Given the description of an element on the screen output the (x, y) to click on. 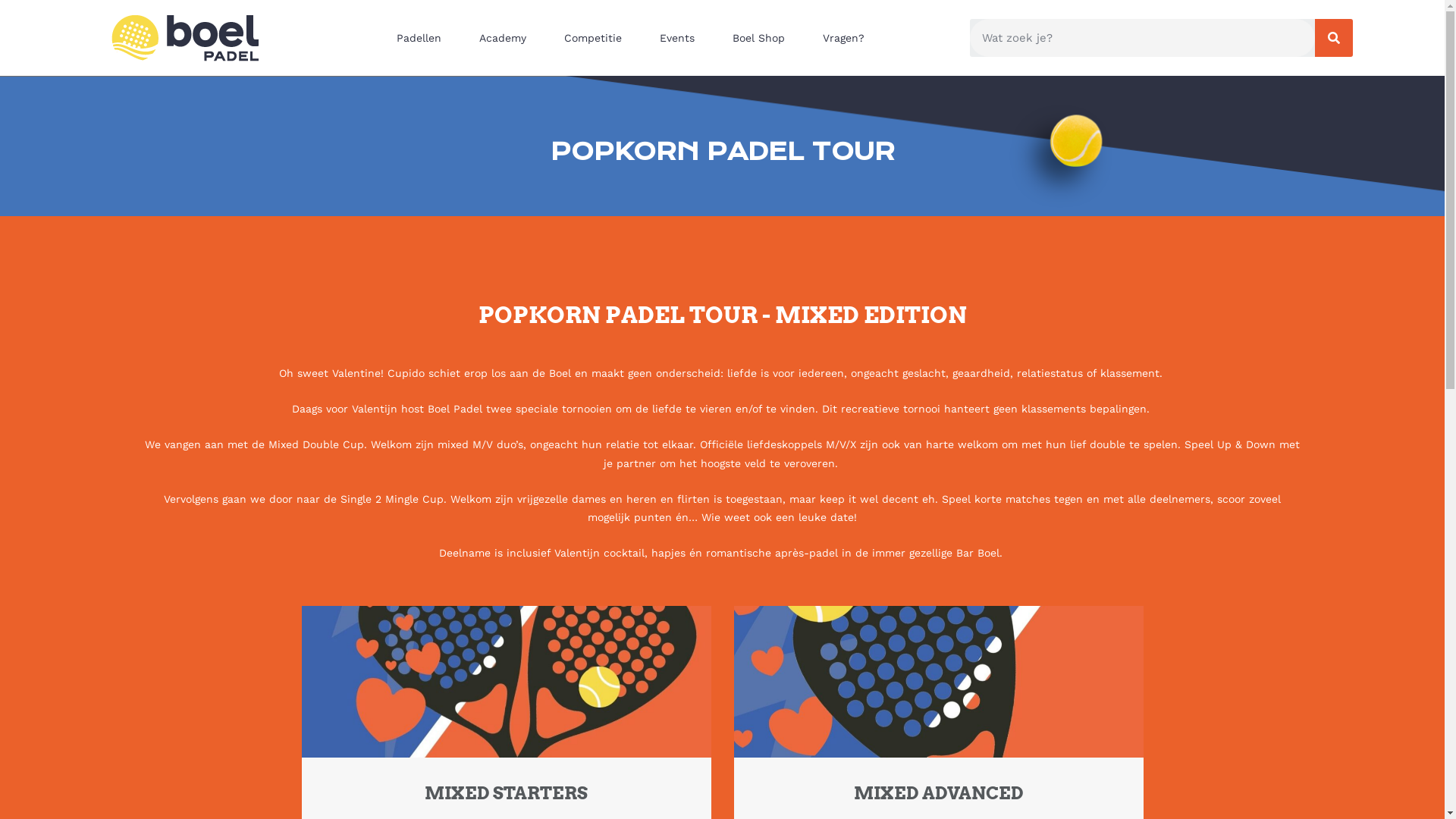
Boel Shop Element type: text (762, 37)
Competitie Element type: text (596, 37)
Academy Element type: text (506, 37)
Padellen Element type: text (422, 37)
Search Element type: hover (1141, 37)
boel-padel-log)webv2 Element type: hover (184, 38)
Vragen? Element type: text (847, 37)
Search Element type: hover (1333, 37)
Events Element type: text (680, 37)
